Given the description of an element on the screen output the (x, y) to click on. 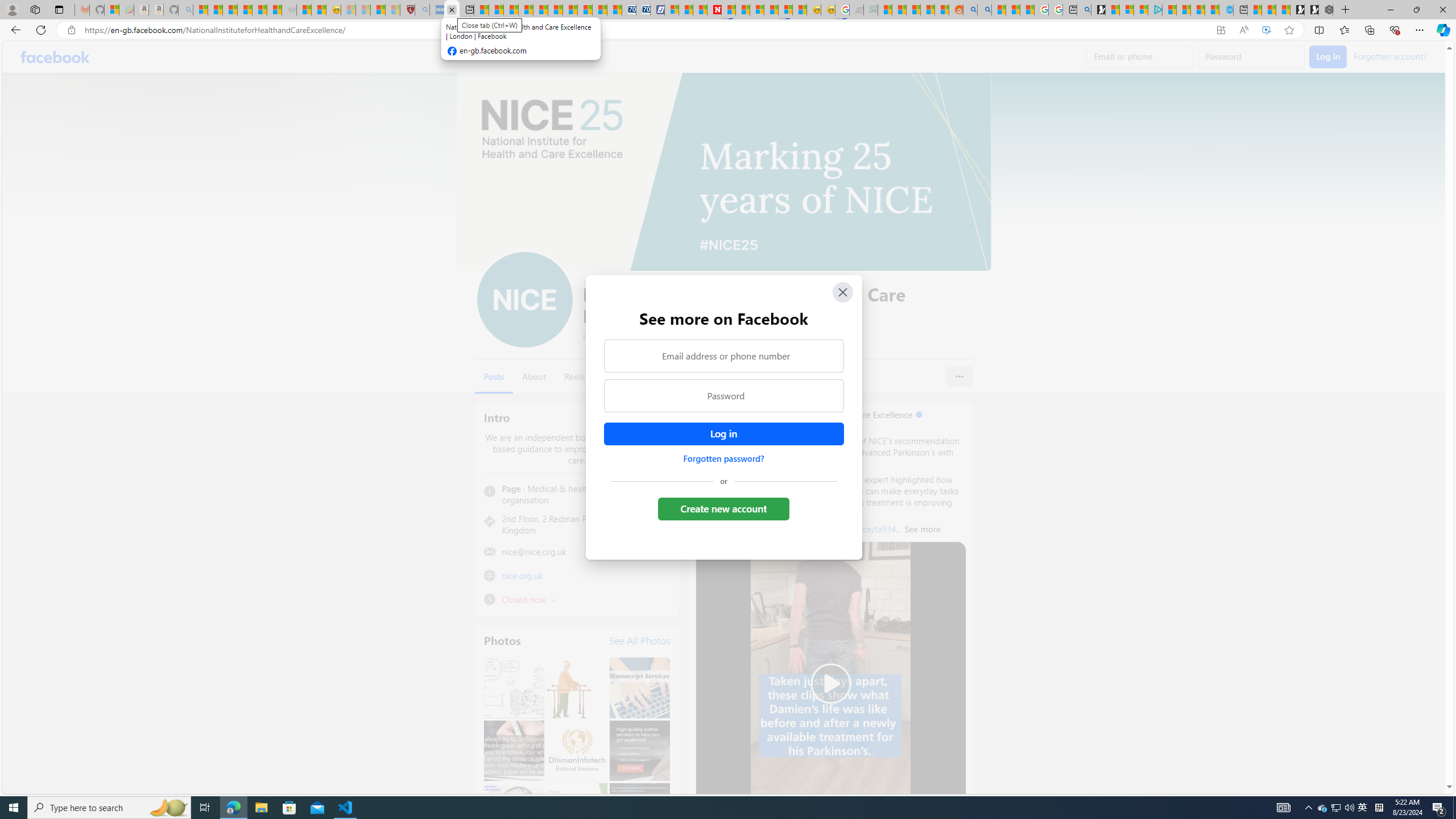
Science - MSN (377, 9)
Facebook (55, 56)
Bing Real Estate - Home sales and rental listings (1083, 9)
Robert H. Shmerling, MD - Harvard Health (406, 9)
Nordace - Nordace Siena Is Not An Ordinary Backpack (1325, 9)
Utah sues federal government - Search (983, 9)
